Given the description of an element on the screen output the (x, y) to click on. 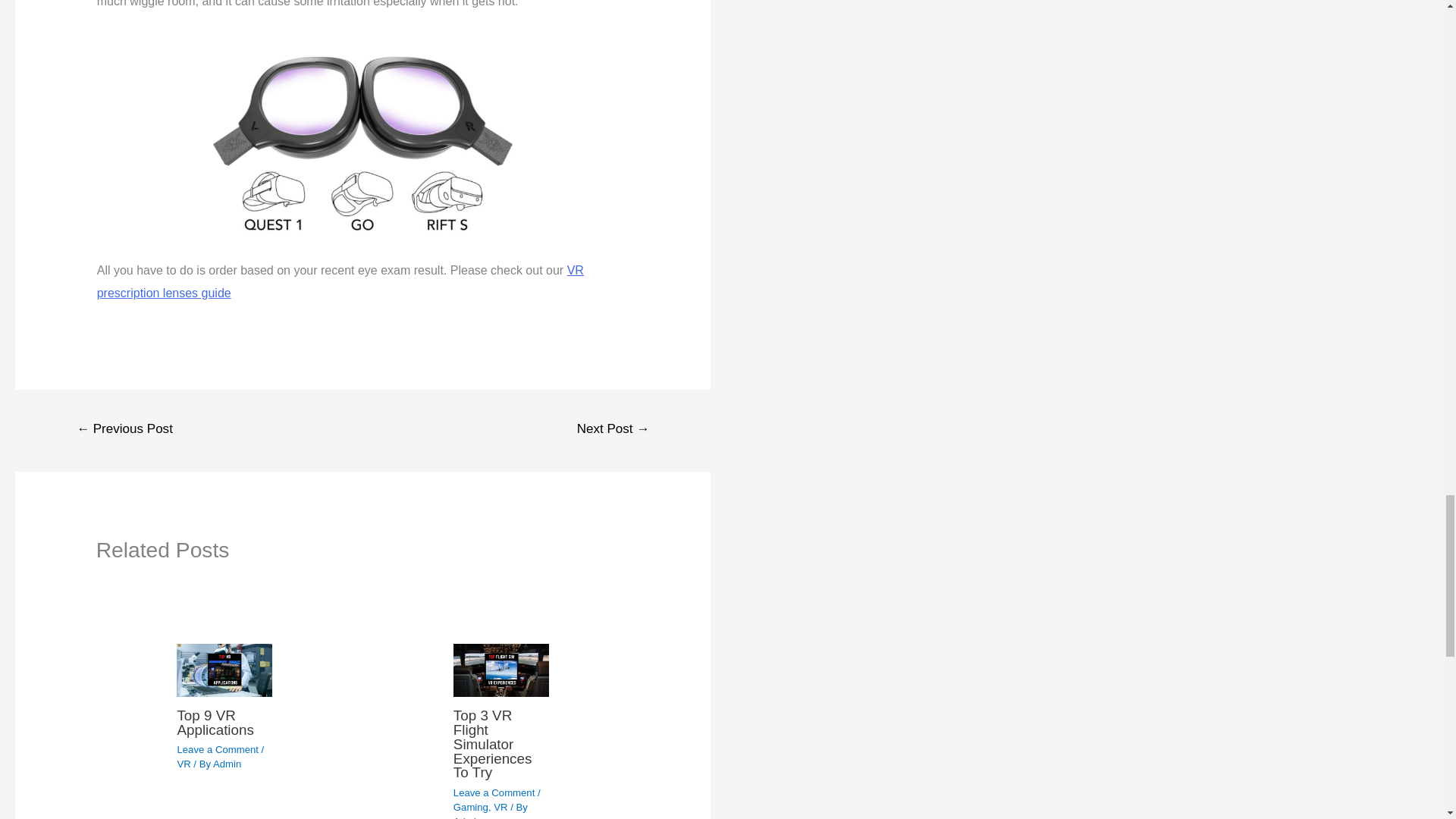
View all posts by Admin (226, 763)
Admin (226, 763)
Admin (466, 817)
Leave a Comment (493, 792)
Top 9 VR Applications (214, 722)
Top 3 VR Flight Simulator Experiences To Try (492, 743)
VR (183, 763)
VR prescription lenses guide (340, 281)
View all posts by Admin (466, 817)
Gaming (469, 807)
